Given the description of an element on the screen output the (x, y) to click on. 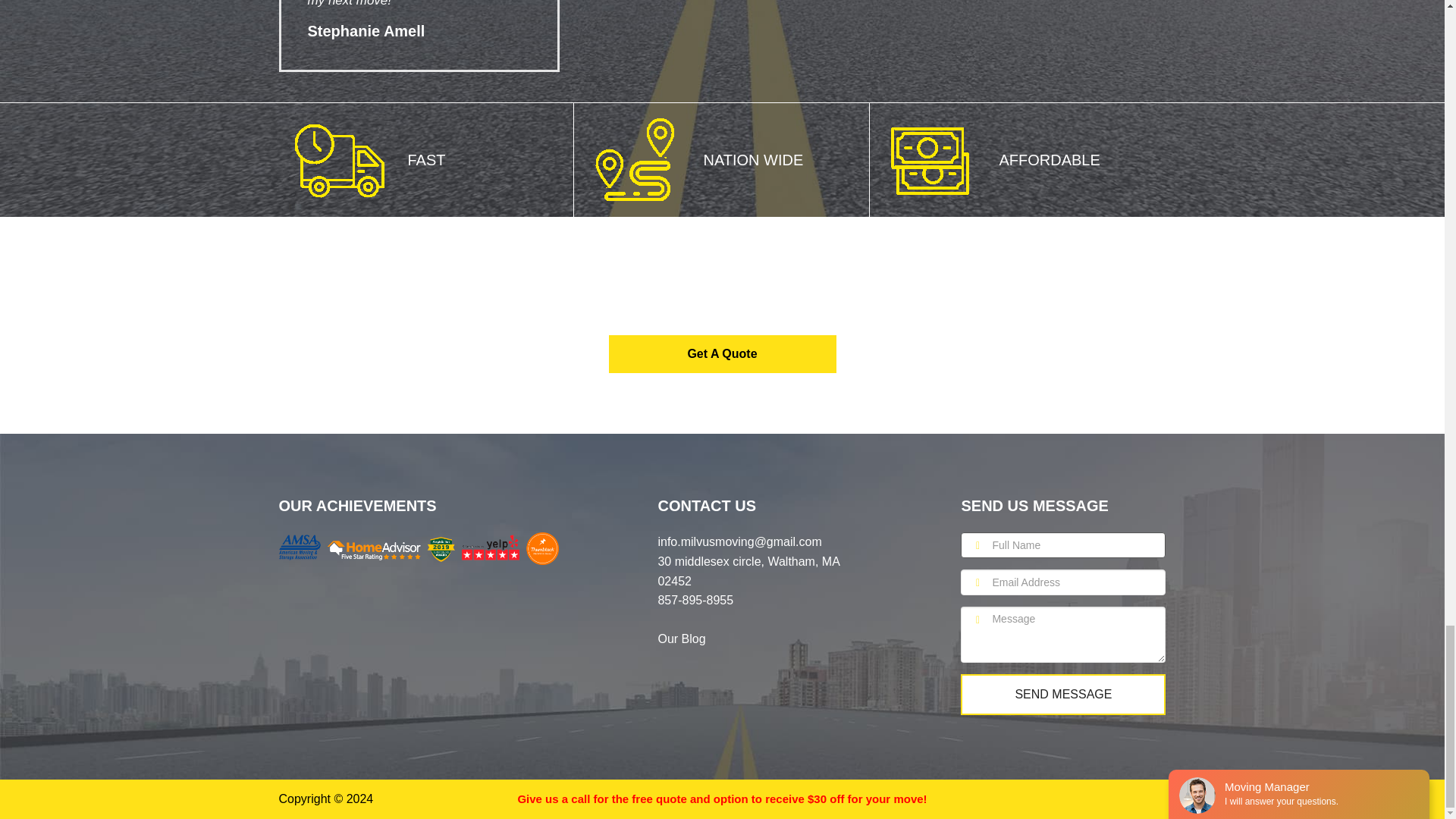
Our Blog (681, 638)
857-895-8955 (695, 599)
SEND MESSAGE (1063, 694)
Get A Quote (721, 353)
